Given the description of an element on the screen output the (x, y) to click on. 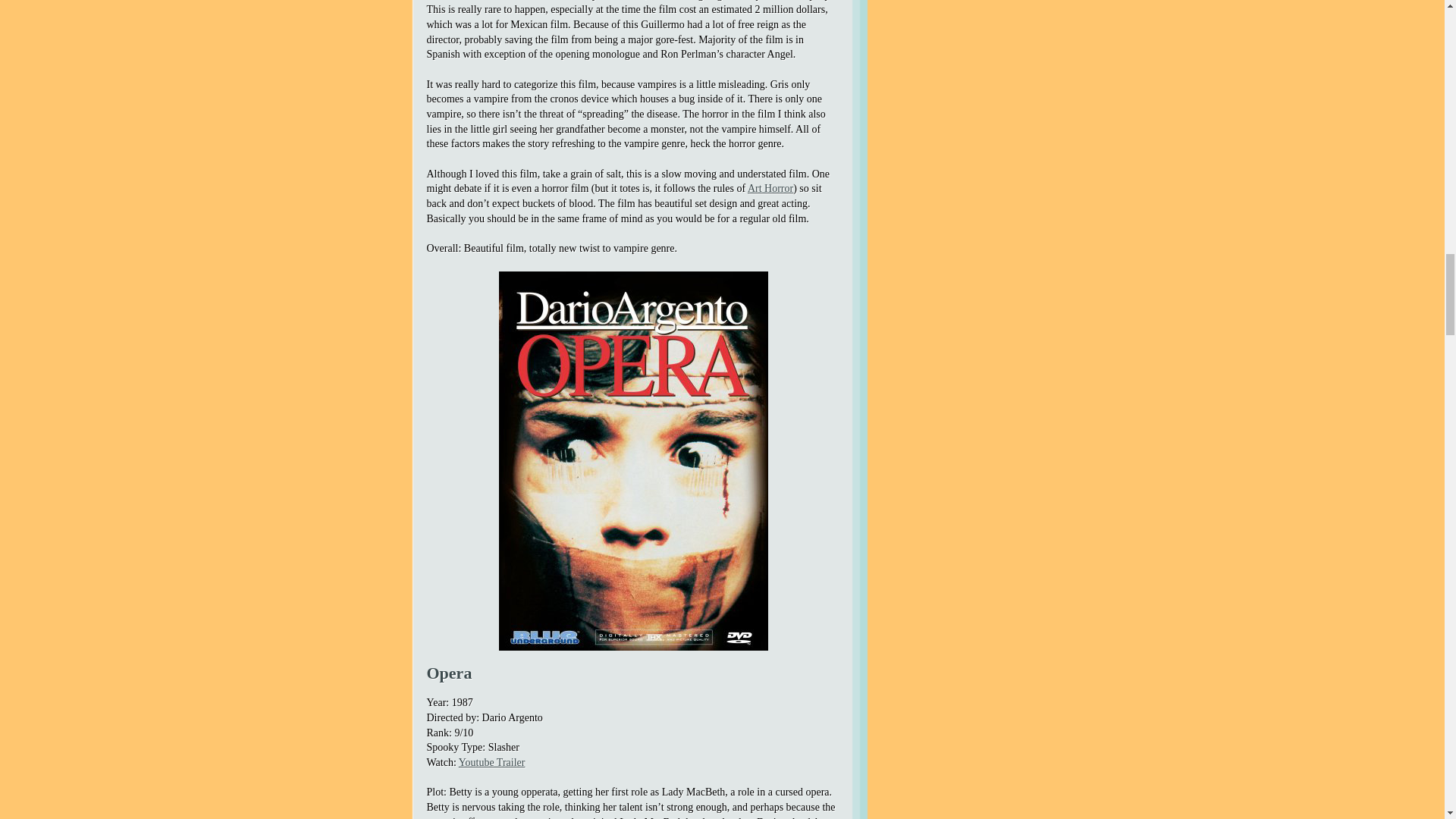
Art Horror (770, 188)
Youtube Trailer (491, 762)
